Given the description of an element on the screen output the (x, y) to click on. 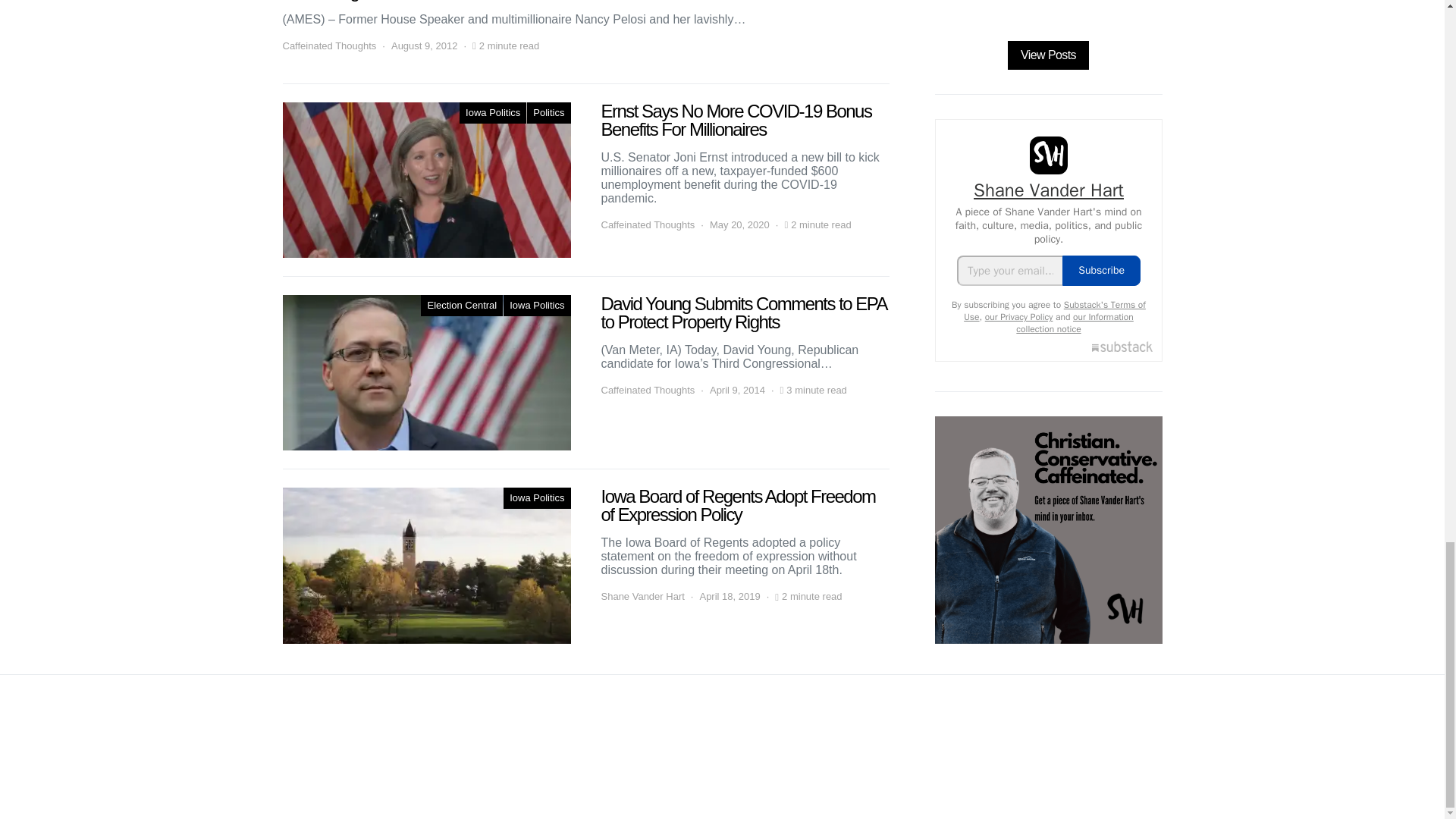
View all posts by Caffeinated Thoughts (646, 390)
Caffeinated Thoughts (328, 45)
View all posts by Caffeinated Thoughts (646, 224)
View all posts by Shane Vander Hart (641, 596)
View all posts by Caffeinated Thoughts (328, 45)
